Given the description of an element on the screen output the (x, y) to click on. 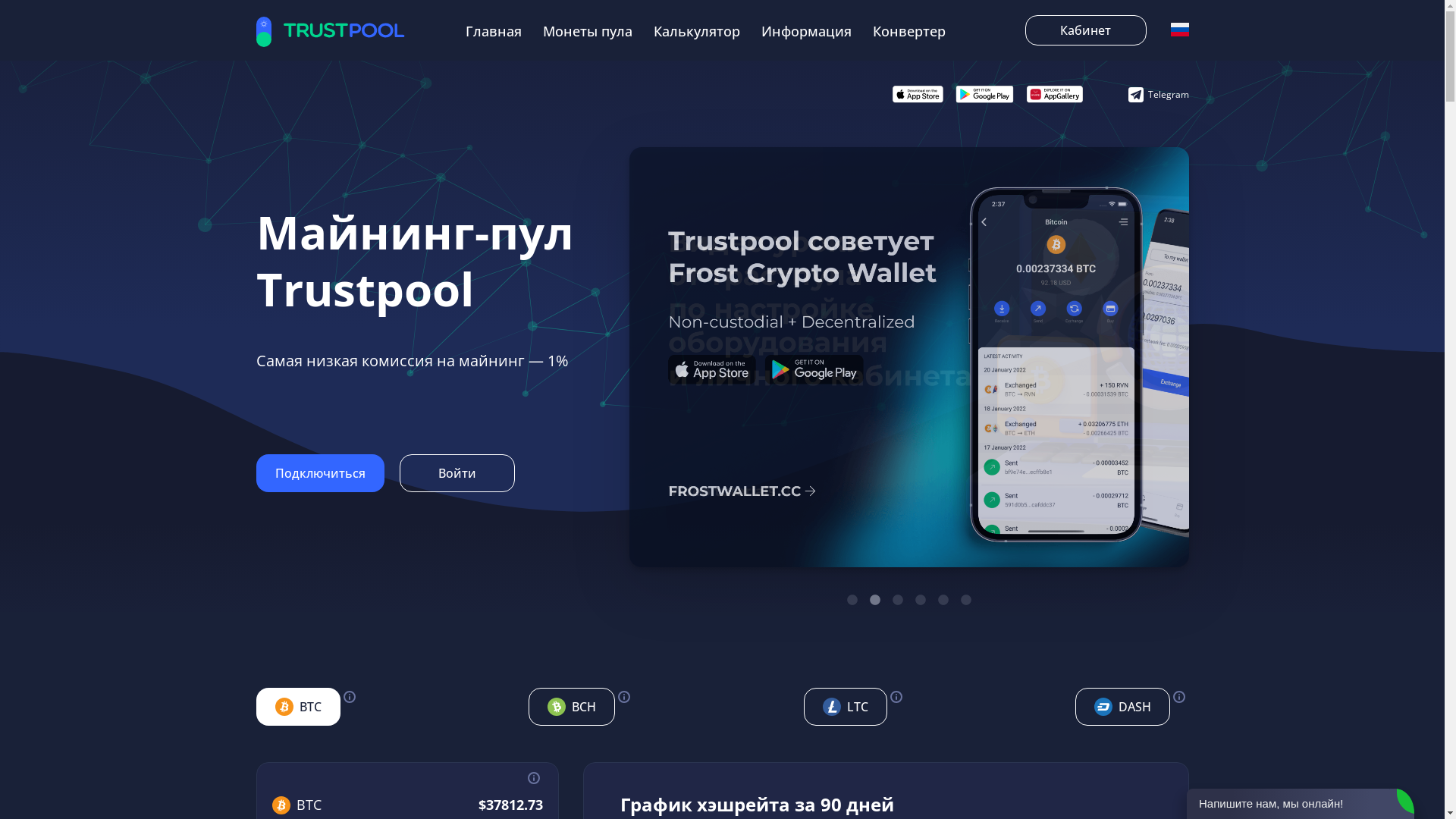
Telegram Element type: text (1158, 94)
LTC Element type: text (845, 705)
BTC Element type: text (298, 705)
5 Element type: text (942, 600)
DASH Element type: text (1122, 705)
BCH Element type: text (571, 705)
3 Element type: text (897, 600)
2 Element type: text (874, 600)
1 Element type: text (851, 600)
4 Element type: text (920, 600)
6 Element type: text (965, 600)
